Given the description of an element on the screen output the (x, y) to click on. 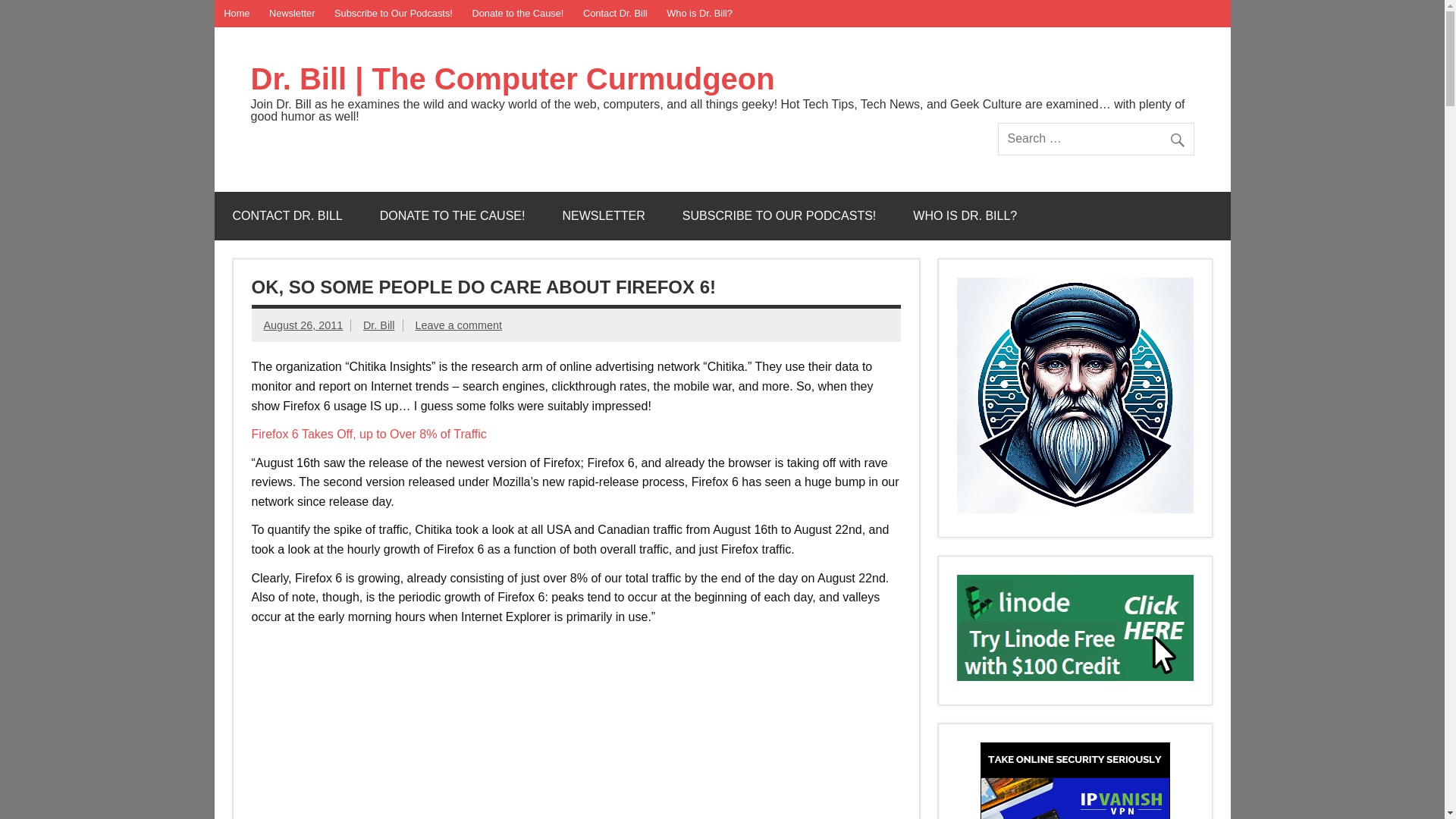
Contact Dr. Bill Element type: text (614, 13)
Leave a comment Element type: text (458, 325)
SUBSCRIBE TO OUR PODCASTS! Element type: text (779, 215)
NEWSLETTER Element type: text (602, 215)
CONTACT DR. BILL Element type: text (286, 215)
Who is Dr. Bill? Element type: text (698, 13)
August 26, 2011 Element type: text (303, 325)
Dr. Bill Element type: text (379, 325)
Newsletter Element type: text (291, 13)
DONATE TO THE CAUSE! Element type: text (452, 215)
Dr. Bill | The Computer Curmudgeon Element type: text (512, 78)
Home Element type: text (236, 13)
Donate to the Cause! Element type: text (518, 13)
Subscribe to Our Podcasts! Element type: text (392, 13)
Firefox 6 Takes Off, up to Over 8% of Traffic Element type: text (368, 433)
WHO IS DR. BILL? Element type: text (964, 215)
